Given the description of an element on the screen output the (x, y) to click on. 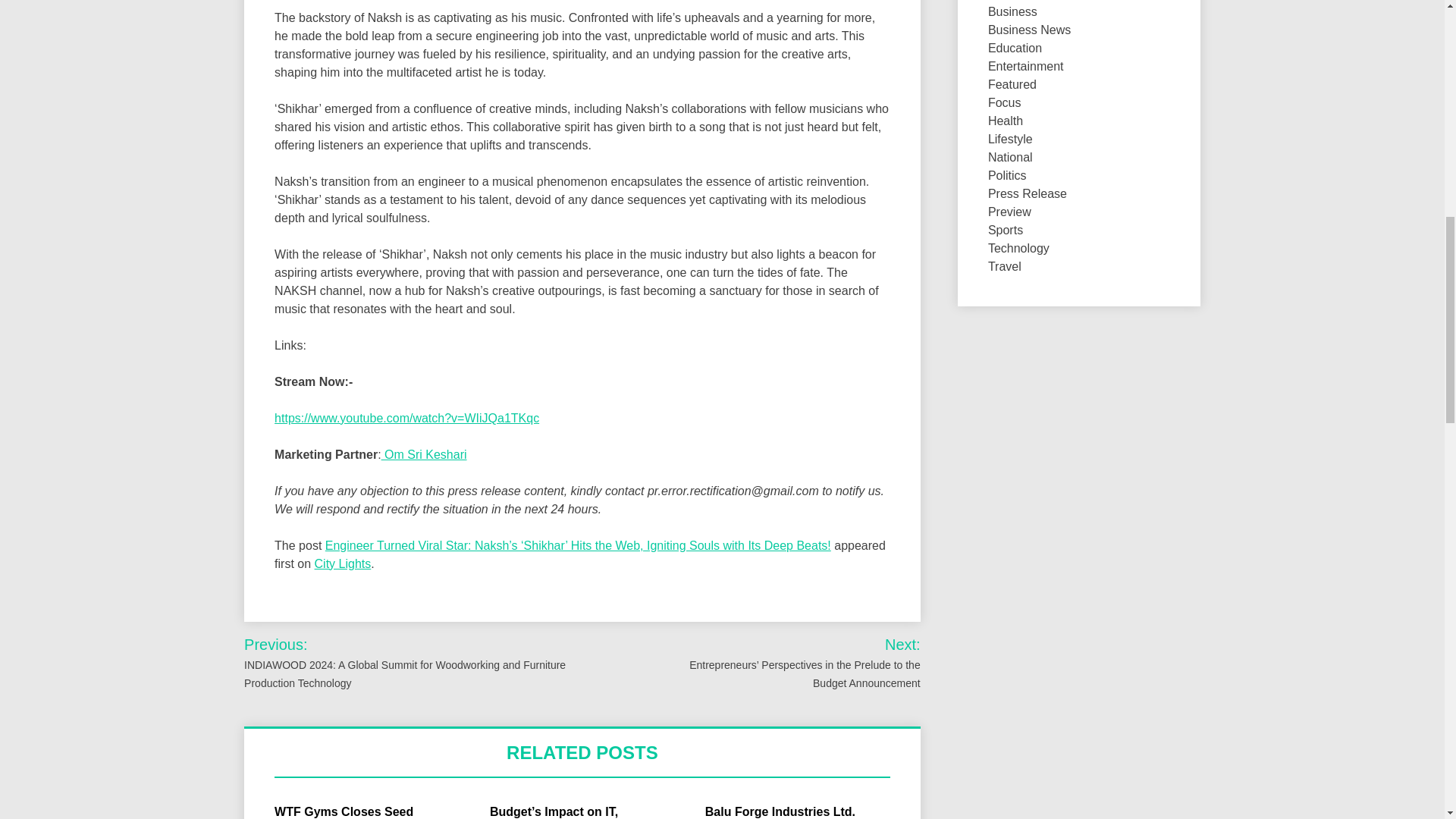
City Lights (342, 563)
 Om Sri Keshari (424, 454)
